Given the description of an element on the screen output the (x, y) to click on. 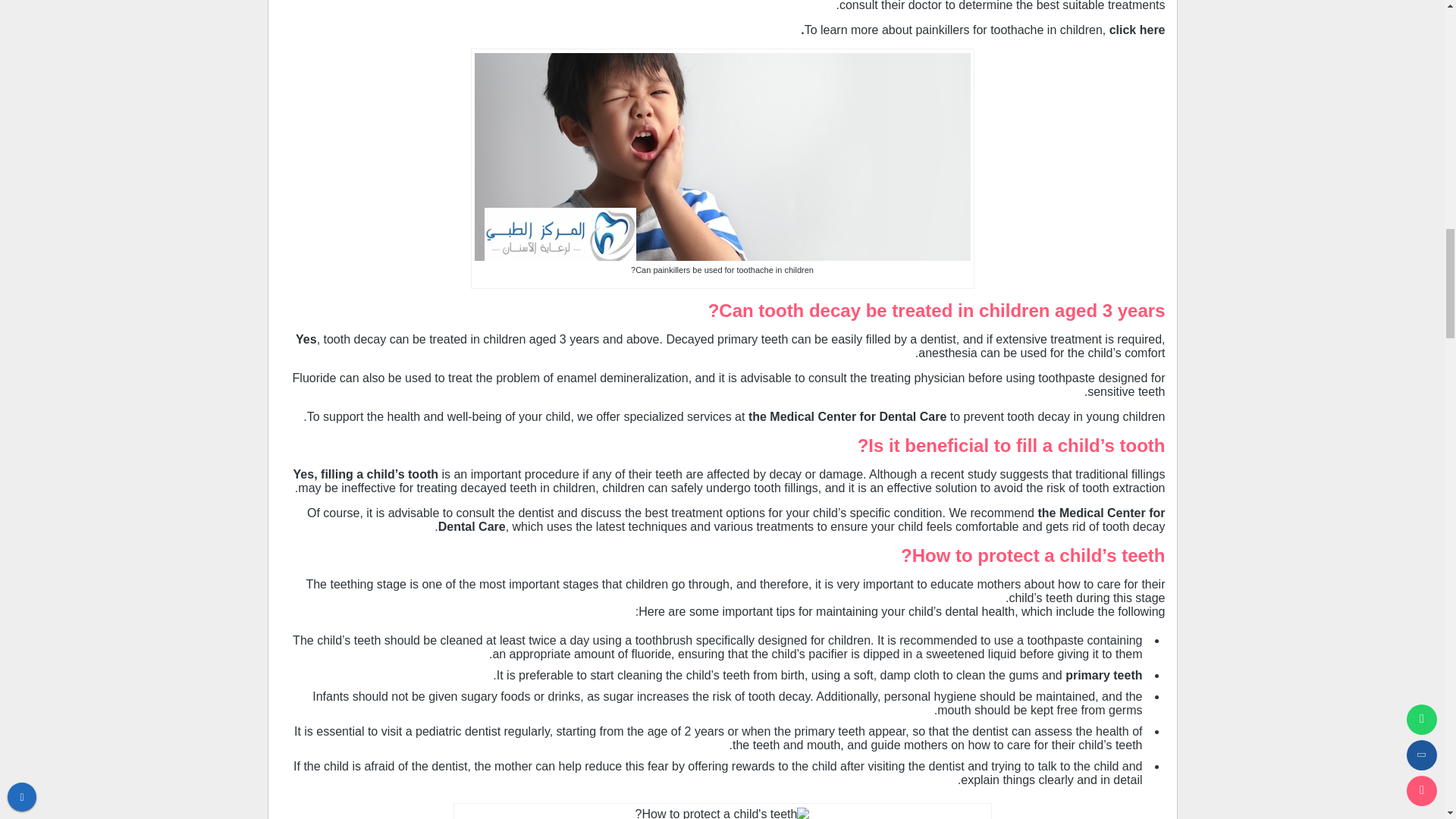
tooth decay be treated in children (903, 310)
primary teeth (1103, 675)
click here. (982, 29)
